Given the description of an element on the screen output the (x, y) to click on. 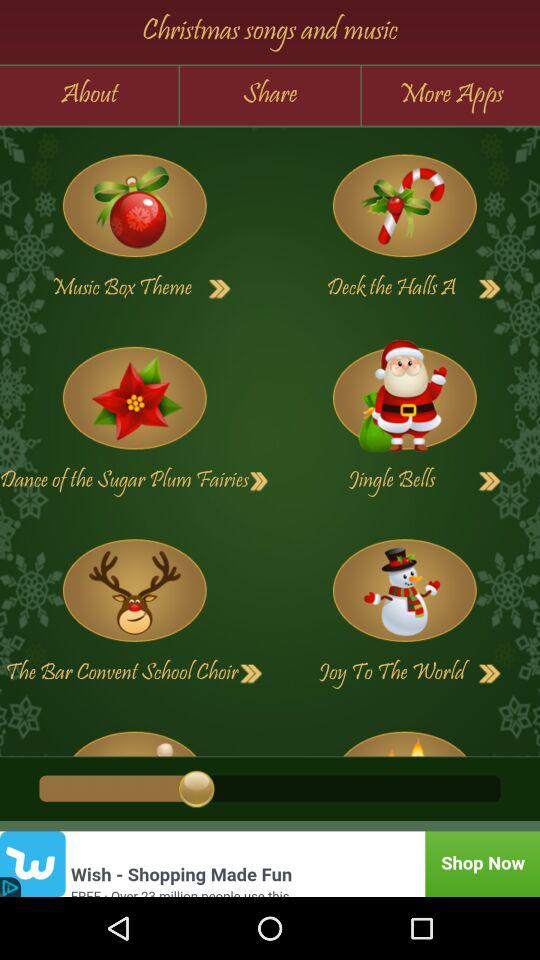
select item (134, 398)
